Given the description of an element on the screen output the (x, y) to click on. 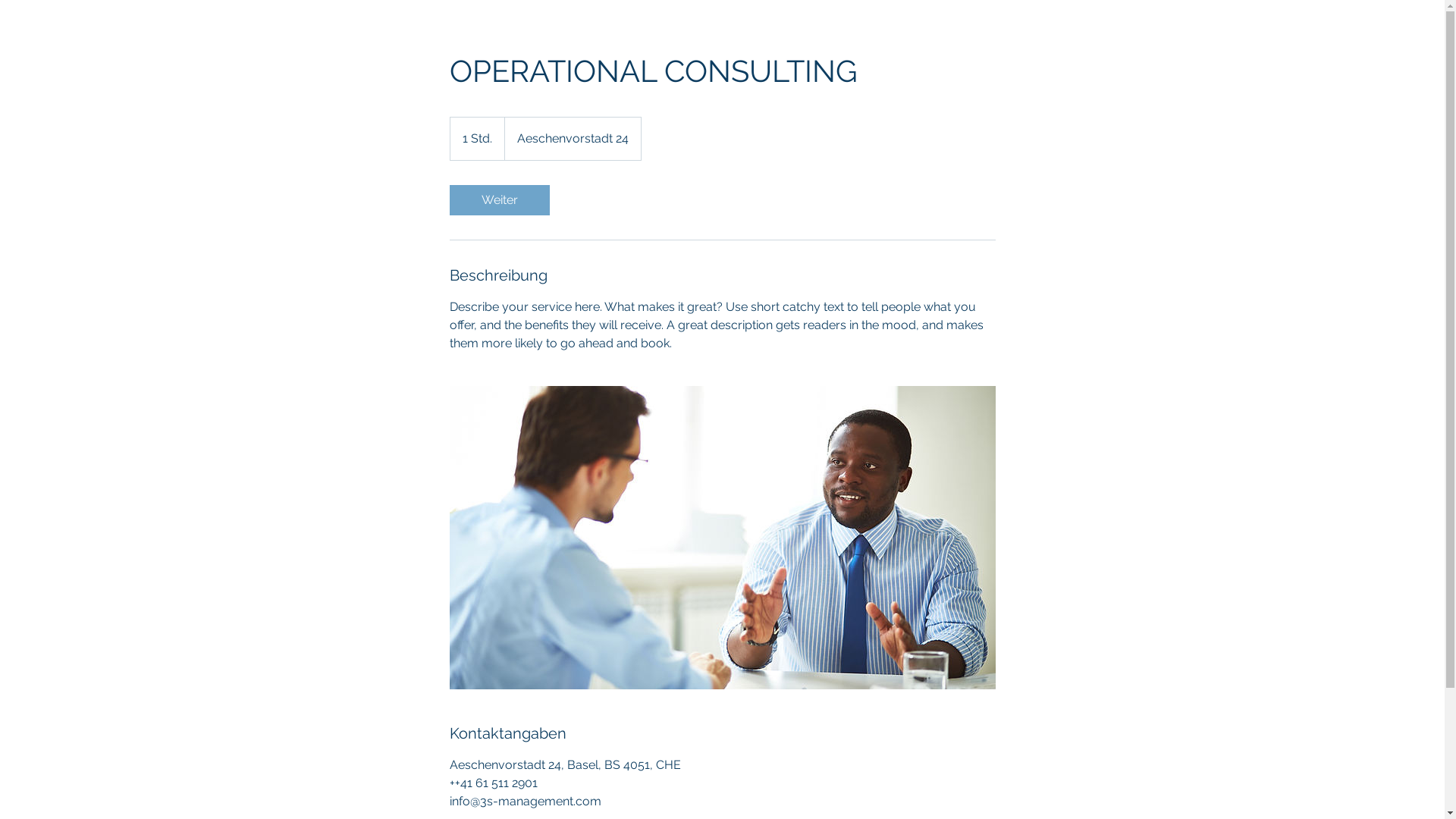
Weiter Element type: text (498, 200)
